Given the description of an element on the screen output the (x, y) to click on. 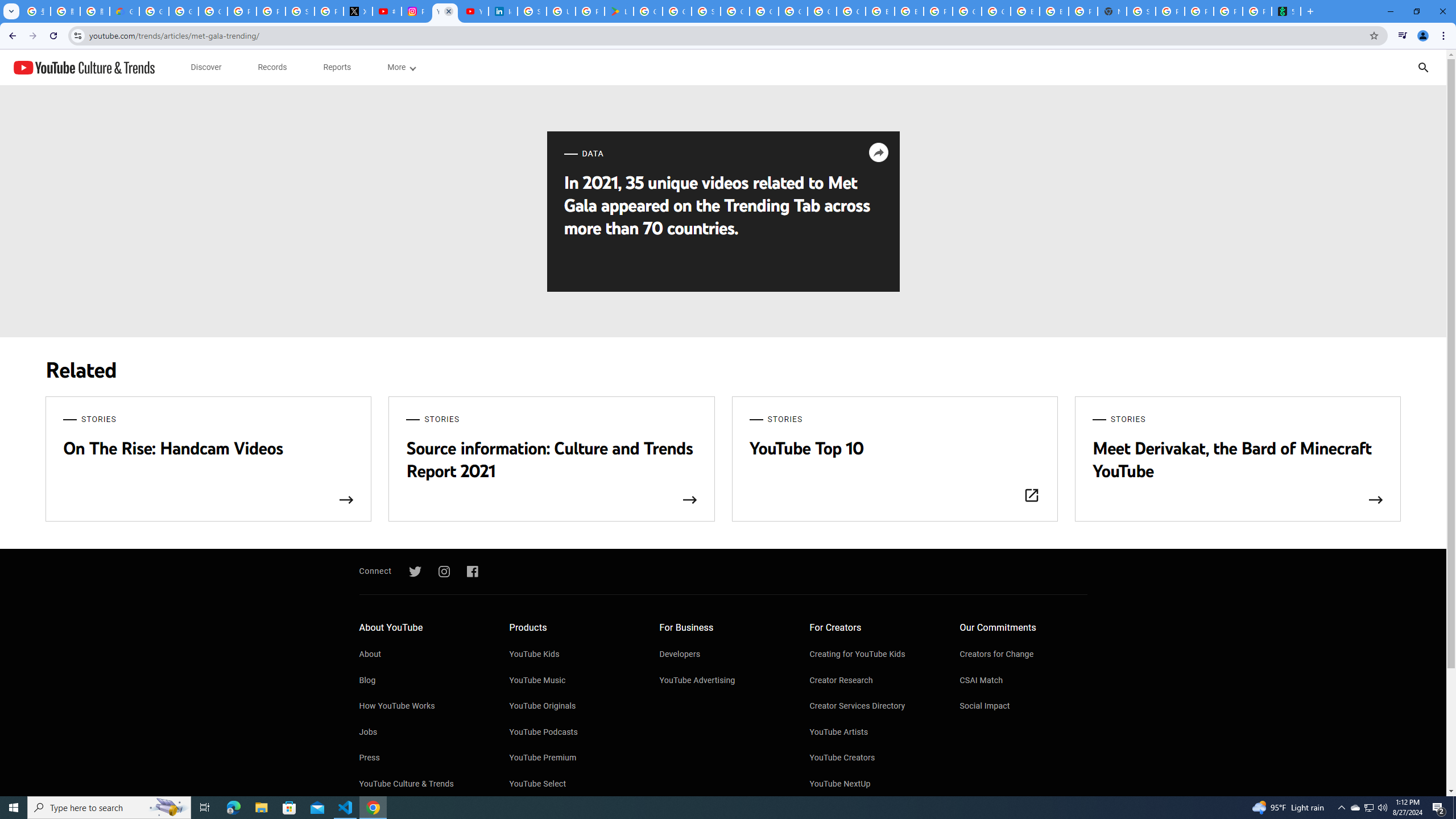
subnav-More menupopup (400, 67)
YouTube Select (573, 784)
Blog (422, 681)
YouTube Creators (873, 758)
Toggle share toolbar open/closed (877, 152)
YouTube Artists (873, 732)
Sign in - Google Accounts (531, 11)
